Given the description of an element on the screen output the (x, y) to click on. 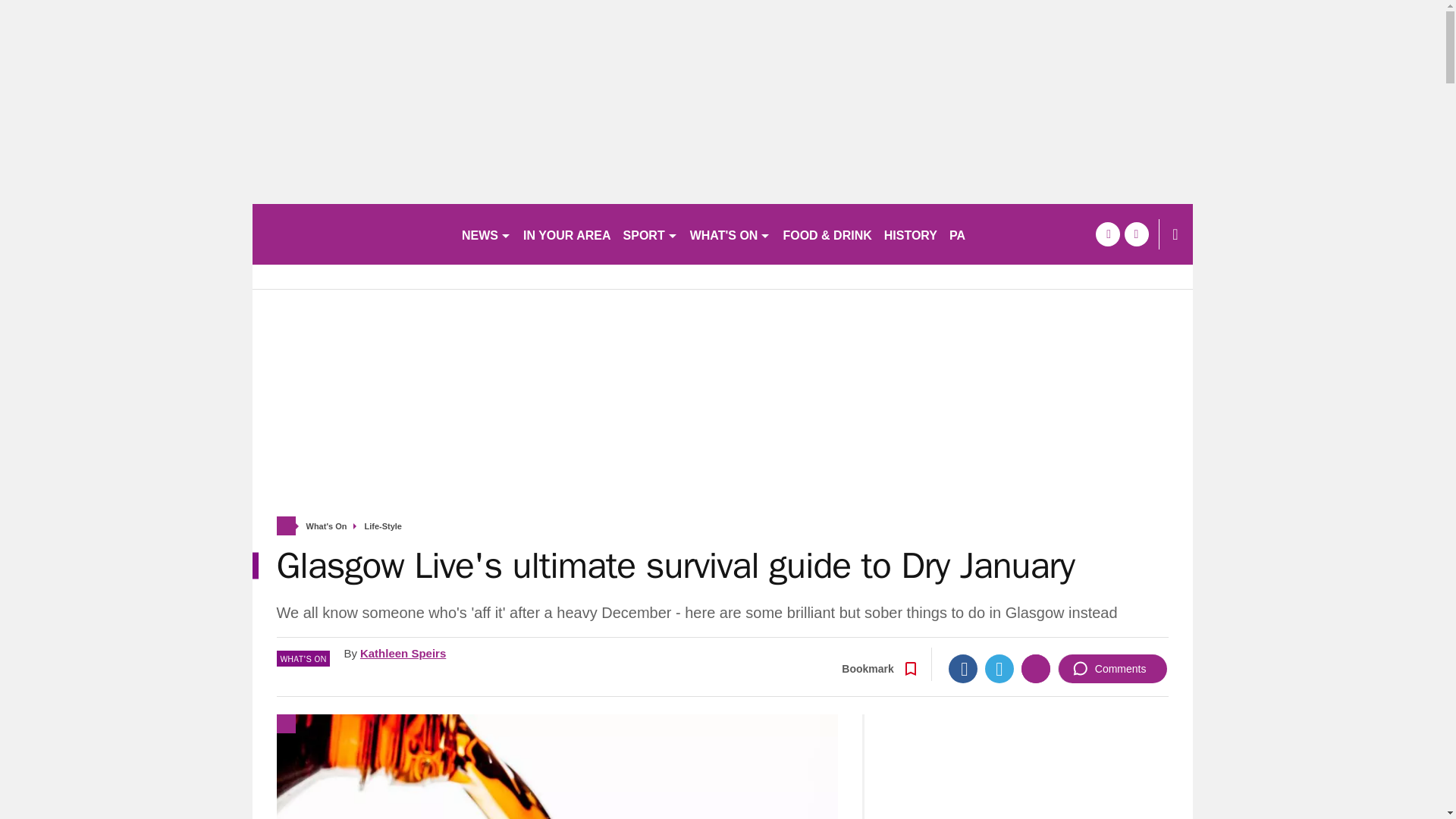
IN YOUR AREA (566, 233)
facebook (1106, 233)
HISTORY (910, 233)
Facebook (962, 668)
Twitter (999, 668)
SPORT (650, 233)
NEWS (485, 233)
glasgowlive (349, 233)
PARTNER STORIES (1006, 233)
WHAT'S ON (730, 233)
